Given the description of an element on the screen output the (x, y) to click on. 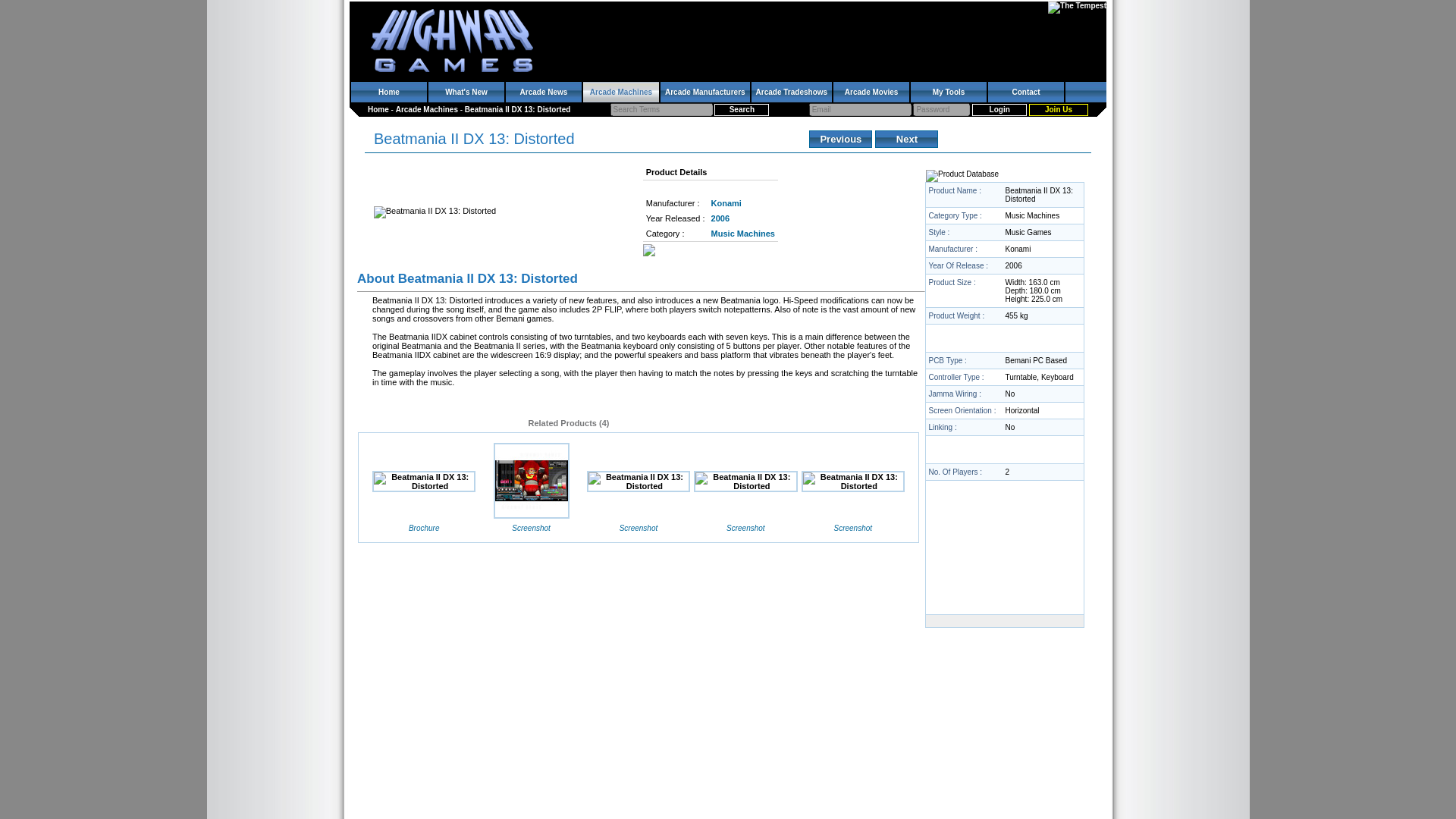
Screenshot (639, 528)
Search (741, 110)
Arcade Movies (870, 91)
Beatmania II DX 13: Distorted (517, 109)
Arcade News (542, 91)
Contact (1026, 91)
Home (388, 91)
Brochure (424, 528)
Arcade Tradeshows (791, 91)
Beatmania II DX 13: Distorted (745, 481)
My Tools (949, 91)
Join Us (1058, 110)
Beatmania II DX 13: Distorted (531, 480)
Product Database (962, 175)
Home (378, 109)
